Given the description of an element on the screen output the (x, y) to click on. 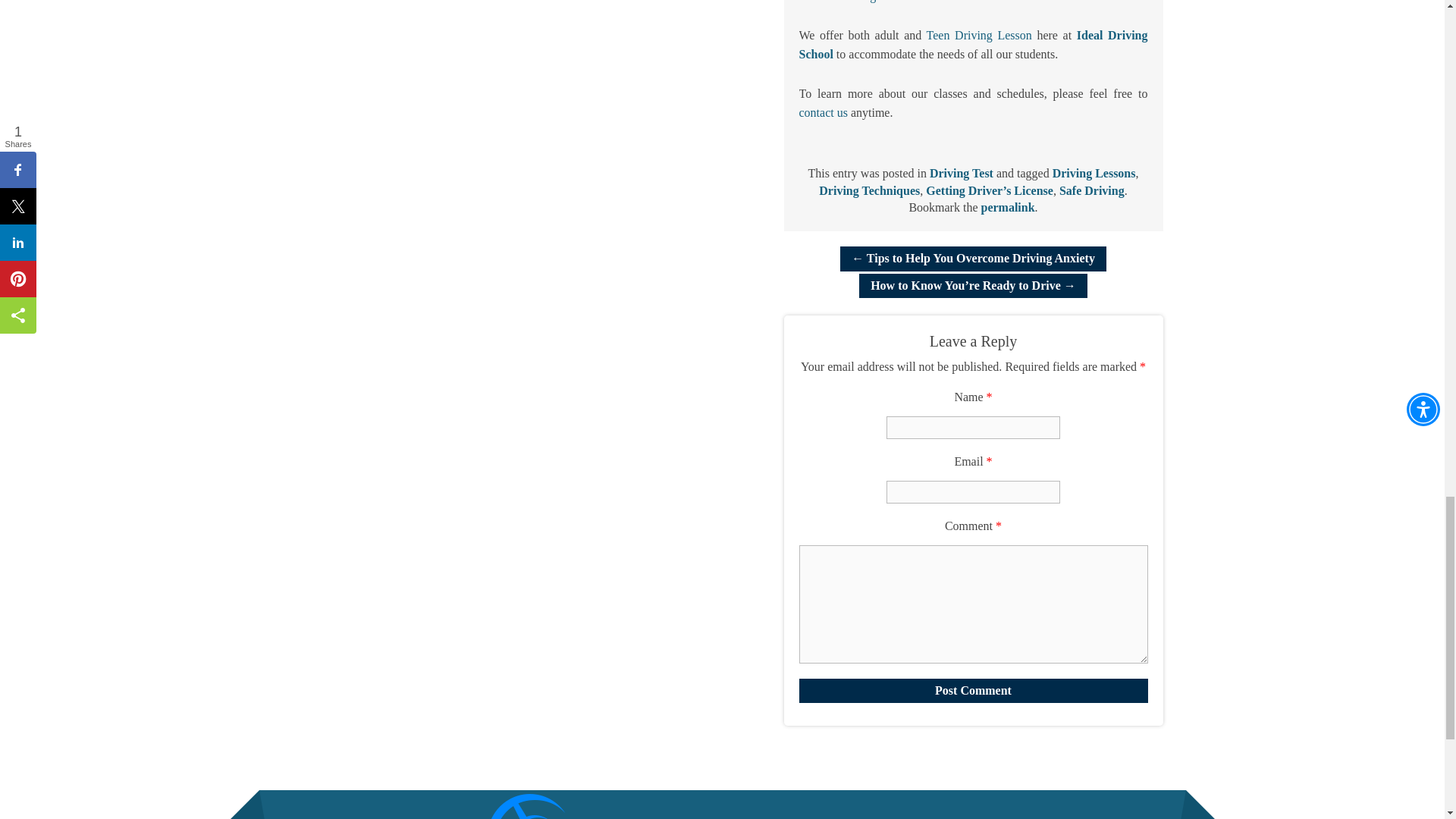
contact us (823, 112)
Driving Lessons (1093, 173)
Teen Driving Lesson (979, 34)
Driving Techniques (869, 190)
Driving Lessons in Allen (898, 1)
Post Comment (973, 690)
Driving Test (961, 173)
Safe Driving (1091, 190)
